Given the description of an element on the screen output the (x, y) to click on. 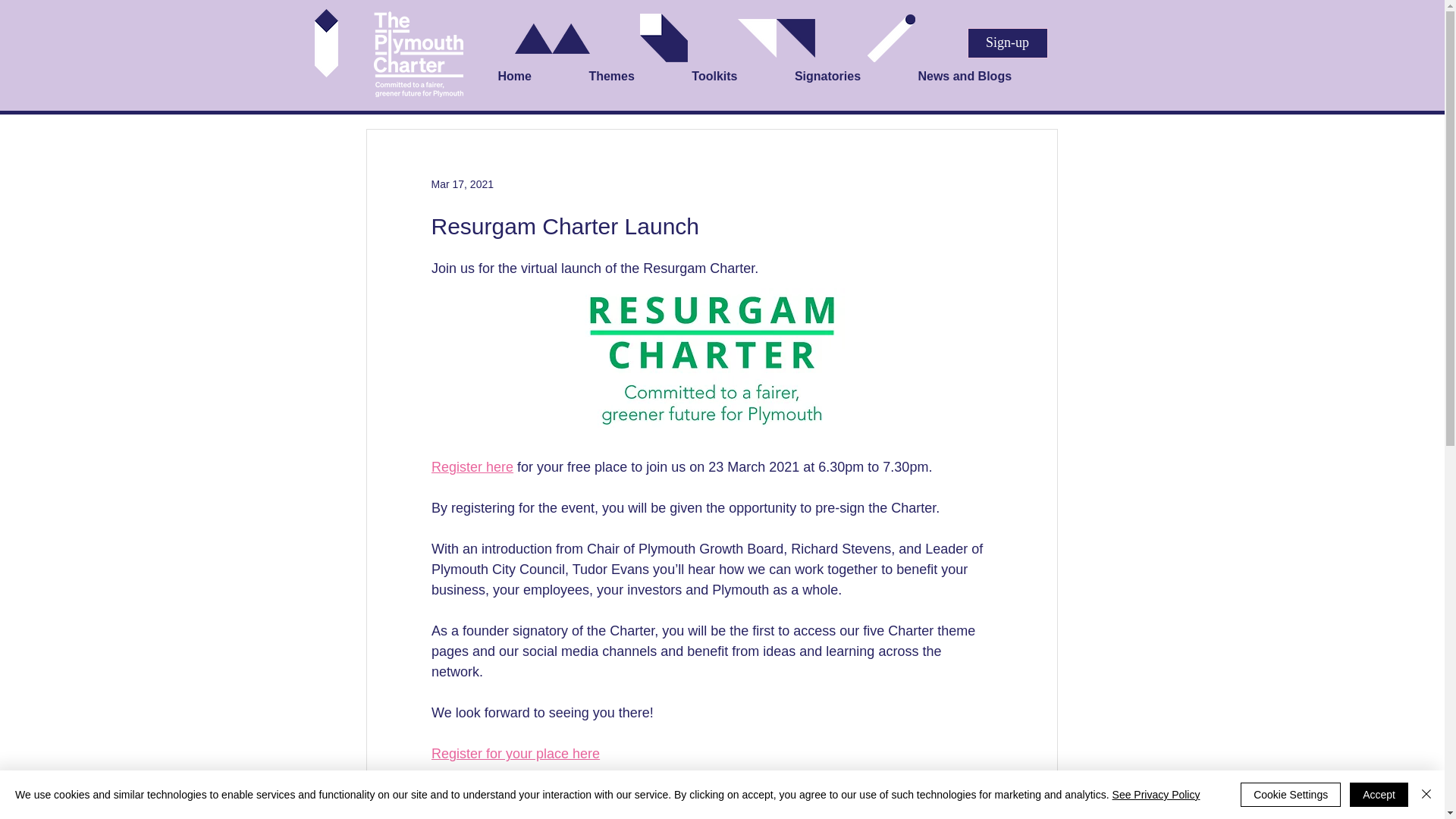
Mar 17, 2021 (461, 183)
Sign-up (1008, 42)
News and Blogs (985, 77)
See Privacy Policy (1155, 794)
Accept (1378, 794)
Home (535, 77)
Toolkits (735, 77)
Register here (471, 467)
Register for your place here (514, 753)
Signatories (848, 77)
Cookie Settings (1290, 794)
